Given the description of an element on the screen output the (x, y) to click on. 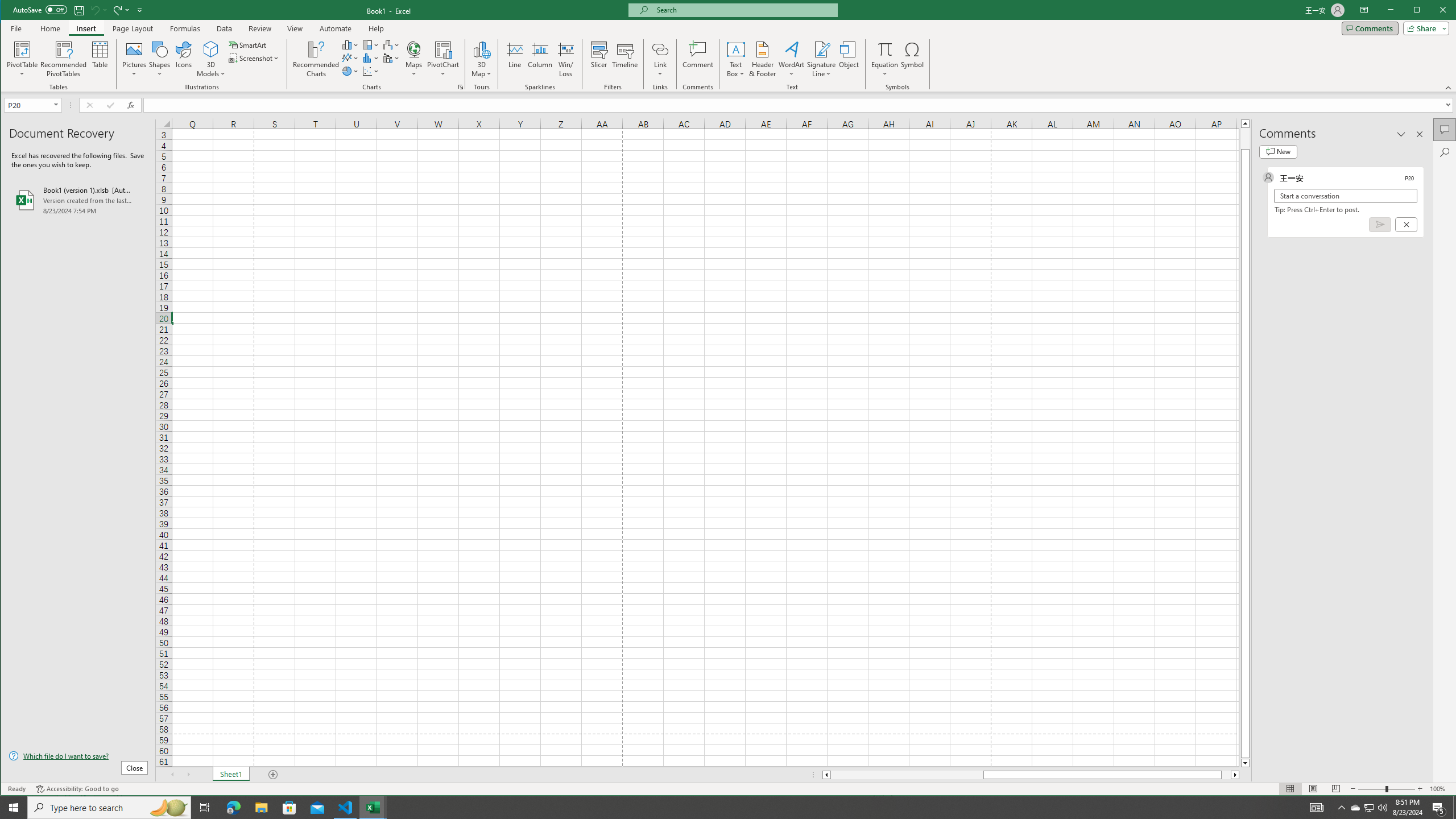
3D Models (211, 59)
New comment (1278, 151)
Insert Combo Chart (391, 57)
PivotTable (22, 48)
Page up (1245, 138)
